Given the description of an element on the screen output the (x, y) to click on. 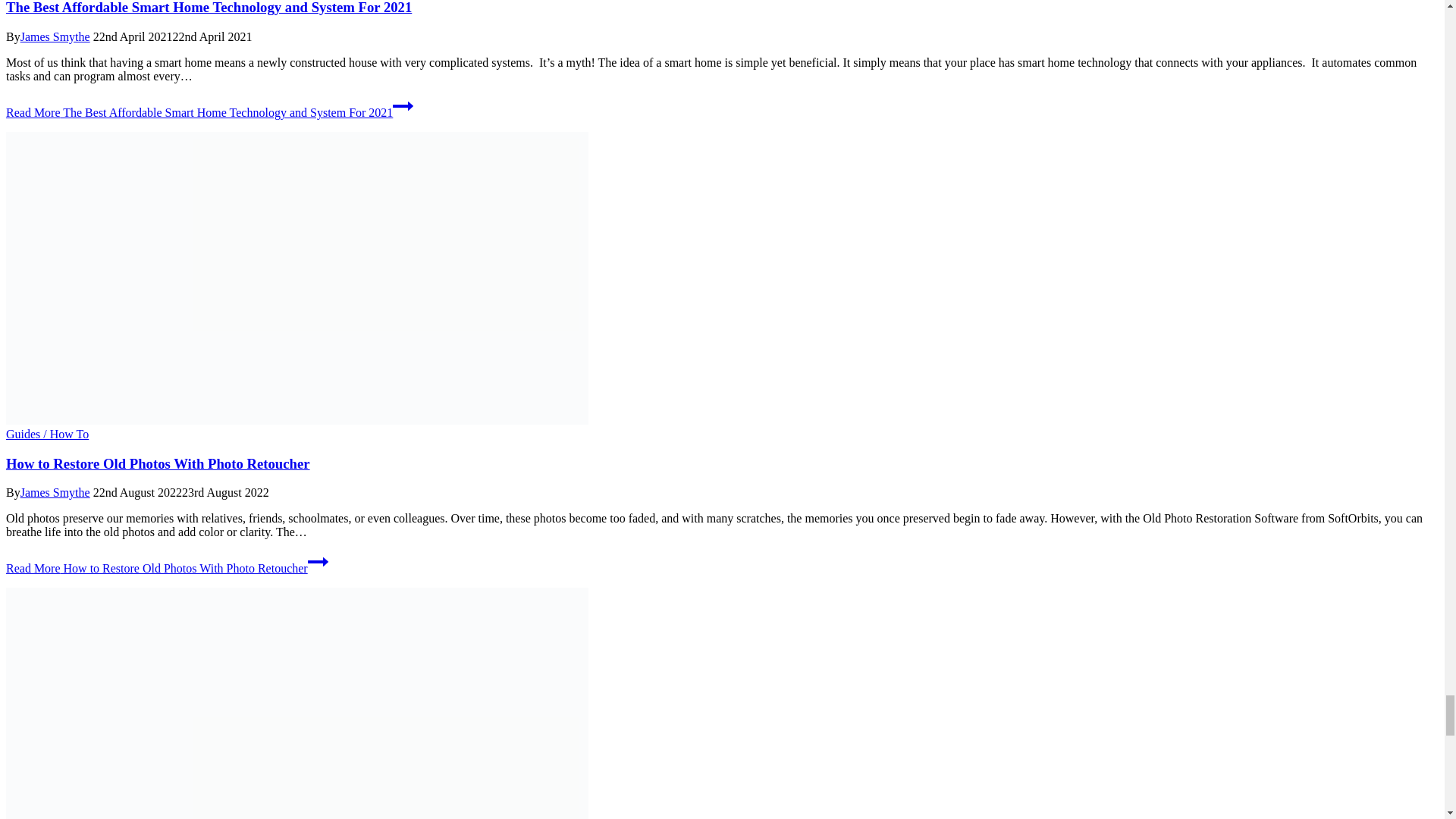
Continue (403, 106)
Continue (318, 561)
